Given the description of an element on the screen output the (x, y) to click on. 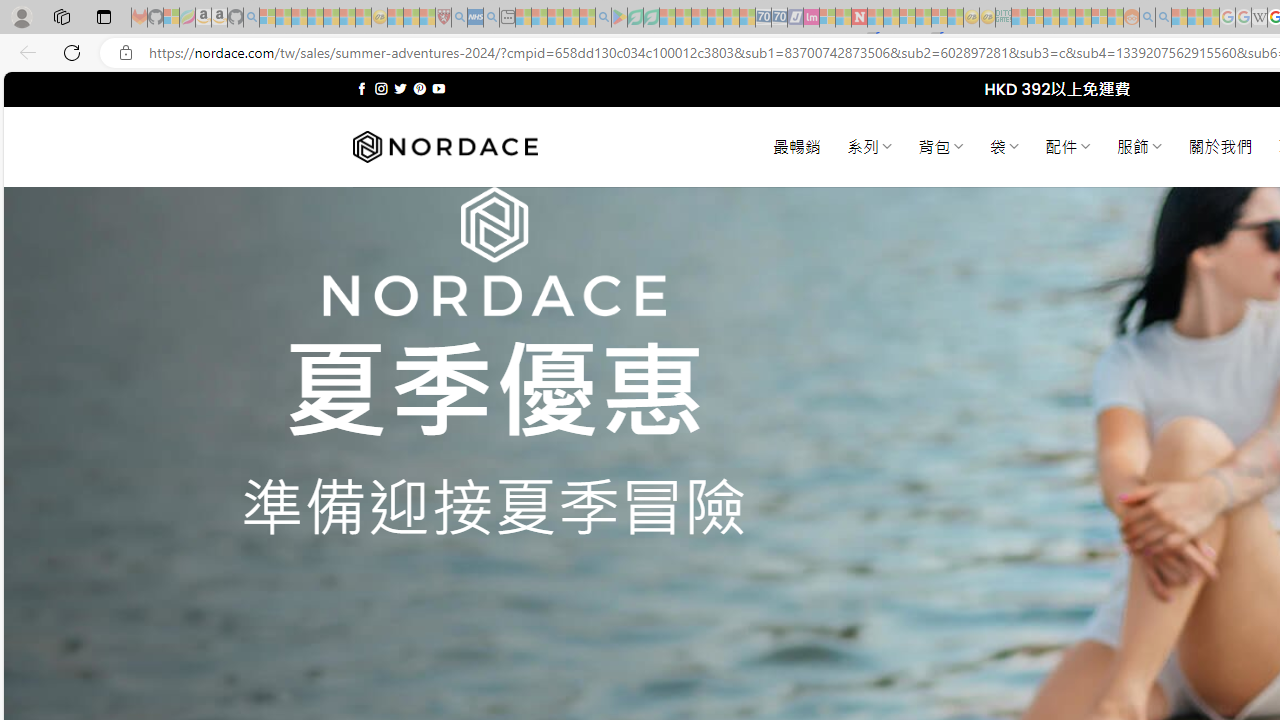
Target page - Wikipedia - Sleeping (1259, 17)
Latest Politics News & Archive | Newsweek.com - Sleeping (859, 17)
